Given the description of an element on the screen output the (x, y) to click on. 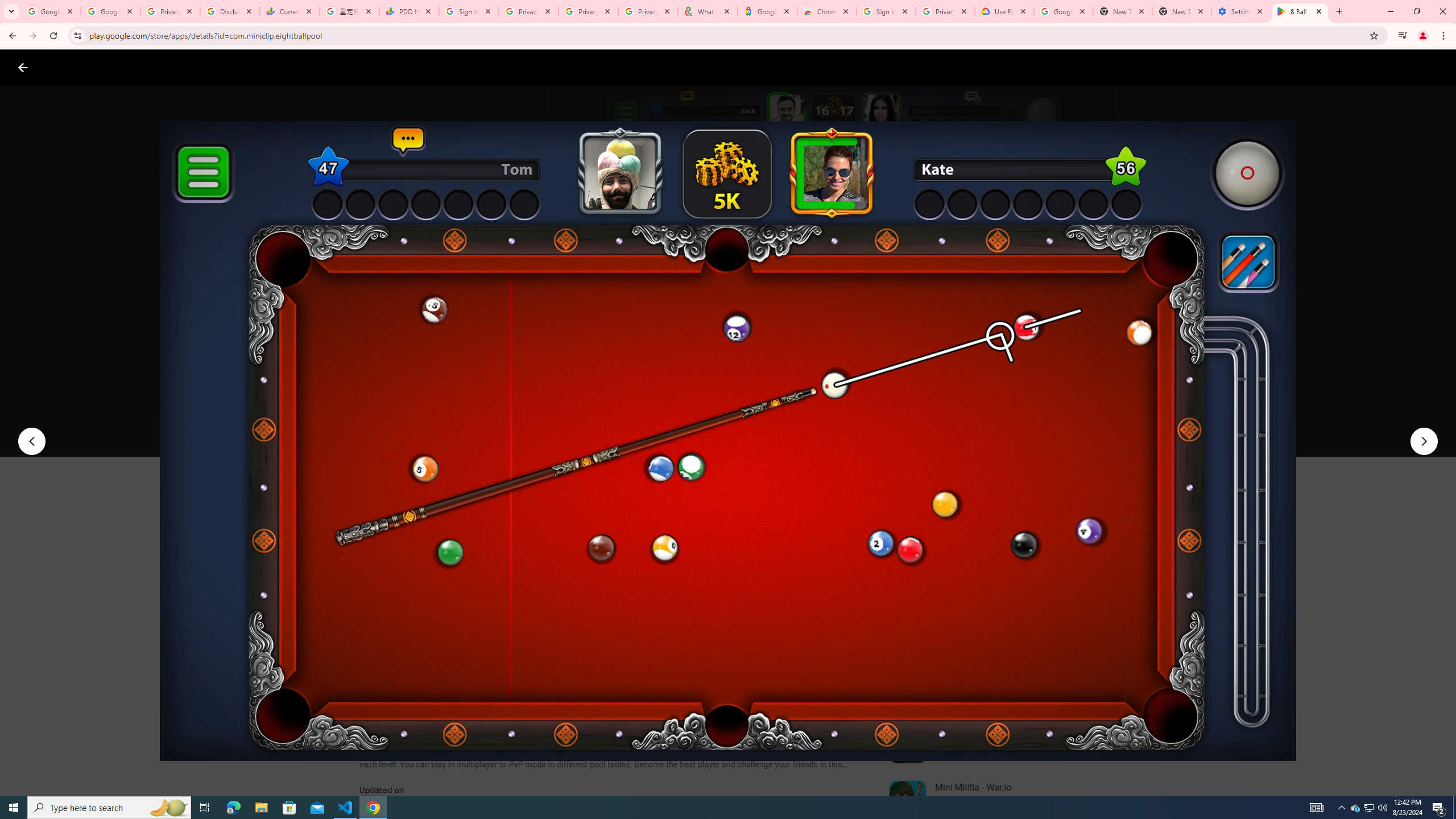
Kids (219, 67)
Open account menu (1436, 67)
Sign in - Google Accounts (885, 11)
PDD Holdings Inc - ADR (PDD) Price & News - Google Finance (409, 11)
Currencies - Google Finance (289, 11)
Close screenshot viewer (22, 67)
New Tab (1182, 11)
Play trailer (1062, 423)
